Given the description of an element on the screen output the (x, y) to click on. 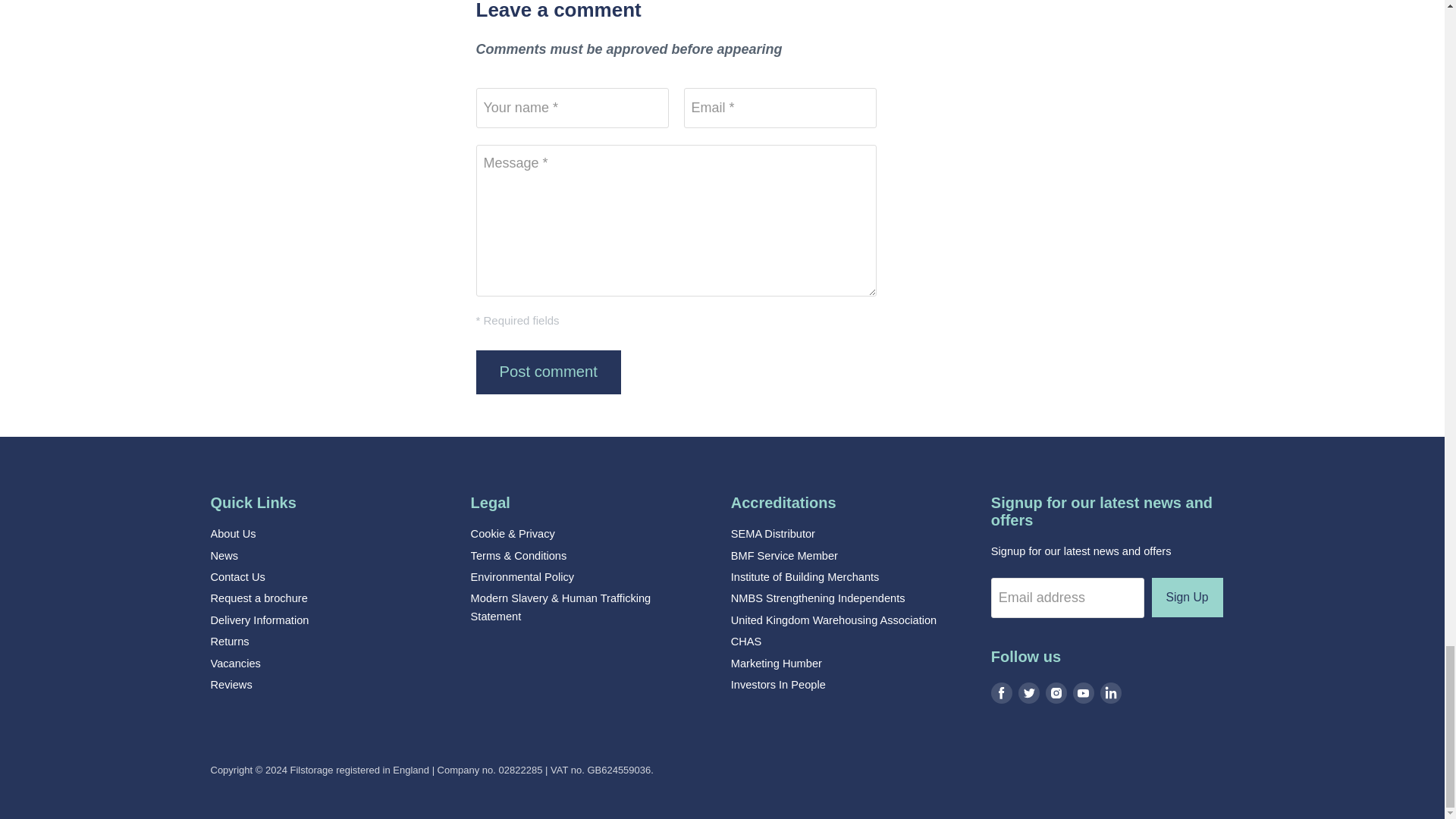
Facebook (1001, 692)
LinkedIn (1110, 692)
Youtube (1083, 692)
Instagram (1056, 692)
Twitter (1028, 692)
